Given the description of an element on the screen output the (x, y) to click on. 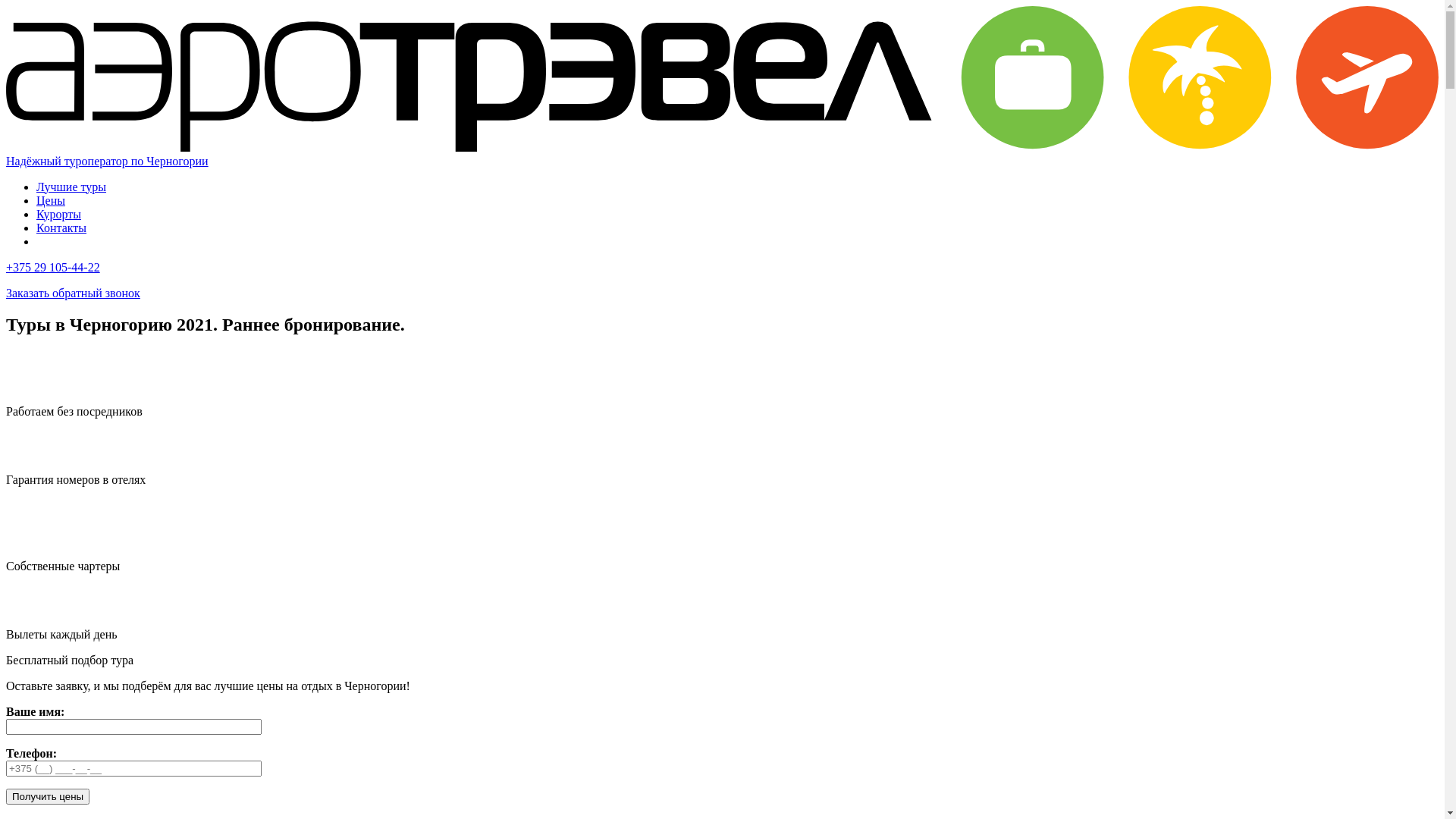
+375 29 105-44-22 Element type: text (53, 266)
